Given the description of an element on the screen output the (x, y) to click on. 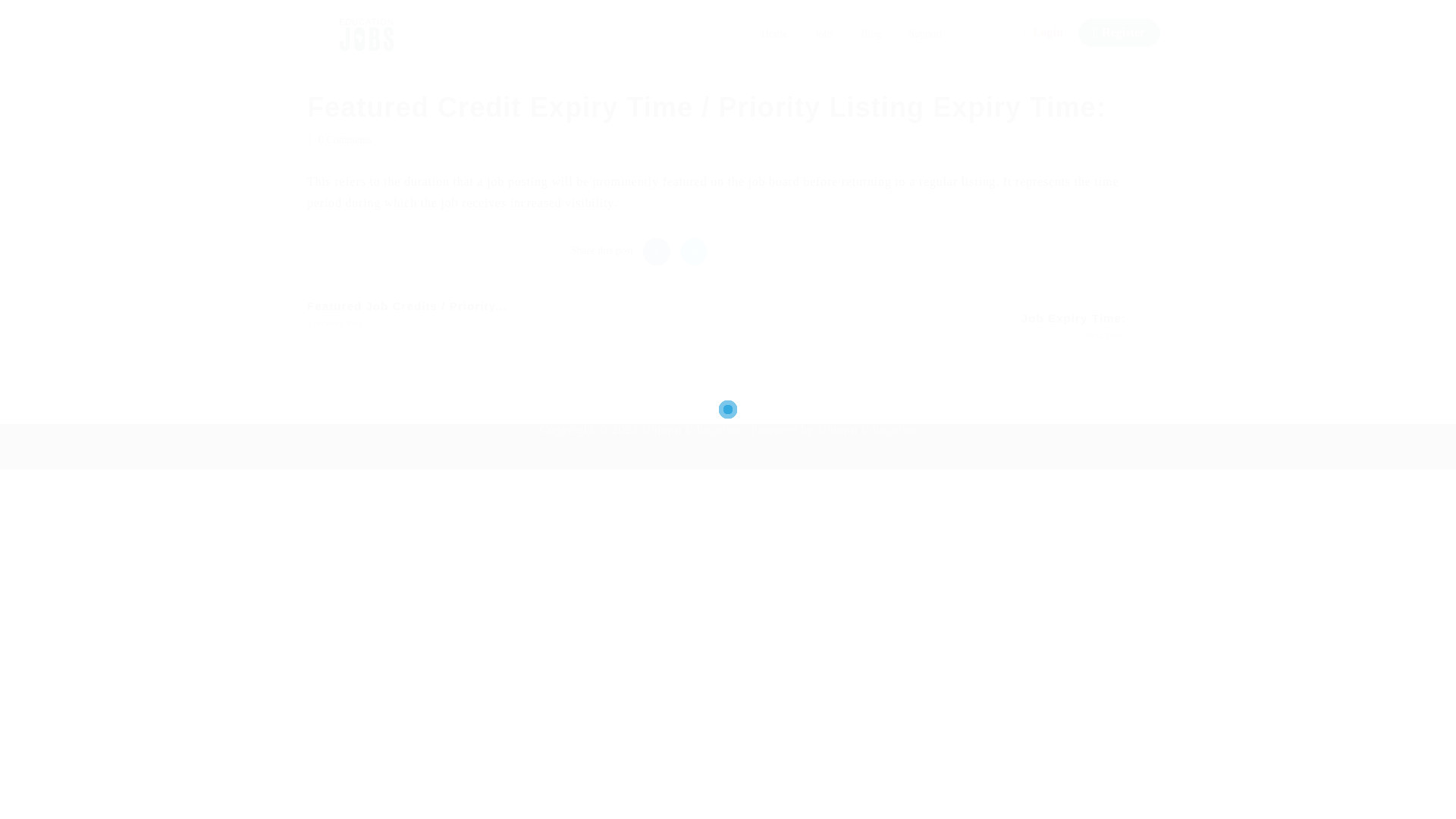
0 Comments (345, 139)
Login (1043, 32)
Previous Post (334, 322)
Blog (870, 33)
Register (1119, 32)
Ubuntu Jobs (369, 34)
Job Expiry Time: (1073, 318)
Jobs (822, 33)
Sign In (567, 333)
Next Post (1104, 335)
Support (925, 33)
Home (774, 33)
